Given the description of an element on the screen output the (x, y) to click on. 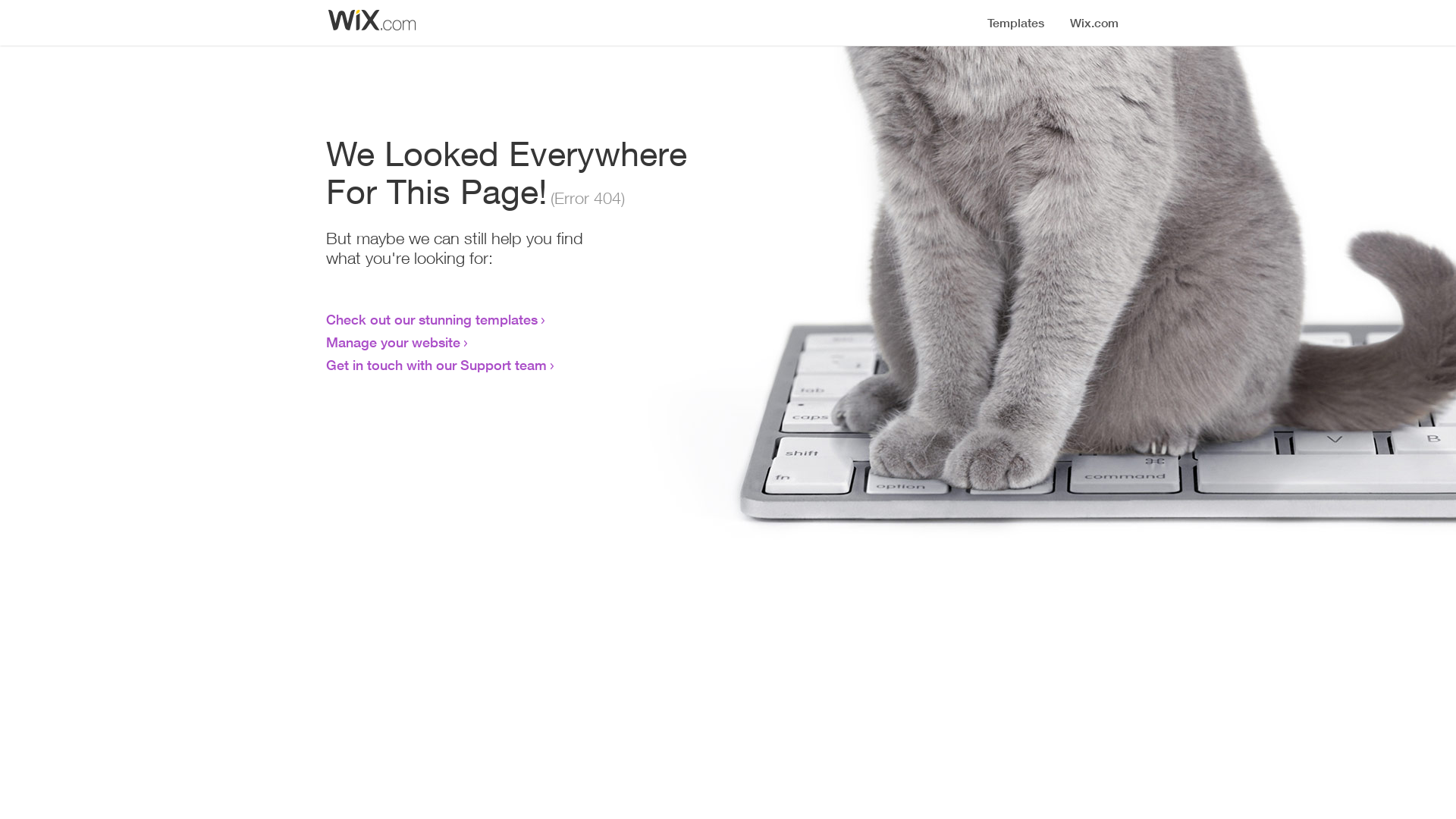
Manage your website Element type: text (393, 341)
Check out our stunning templates Element type: text (431, 318)
Get in touch with our Support team Element type: text (436, 364)
